Given the description of an element on the screen output the (x, y) to click on. 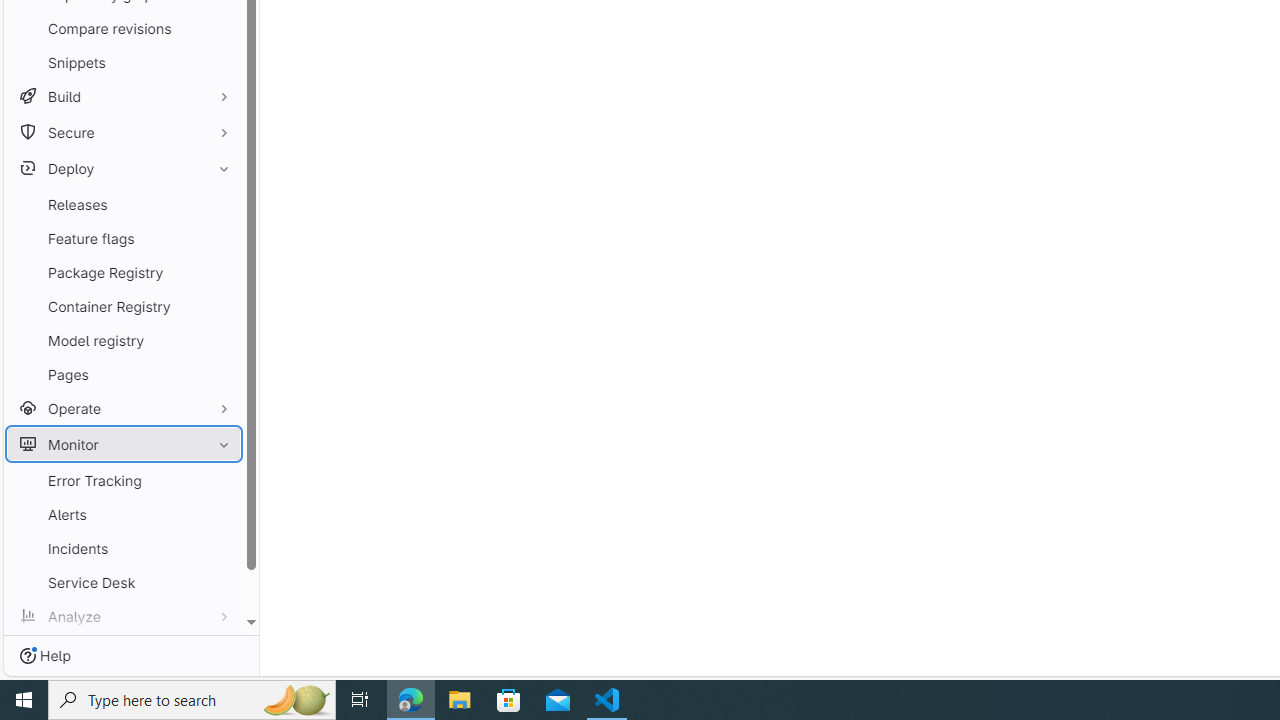
Build (123, 96)
Service Desk (123, 582)
Feature flags (123, 237)
Compare revisions (123, 28)
Container Registry (123, 306)
